Given the description of an element on the screen output the (x, y) to click on. 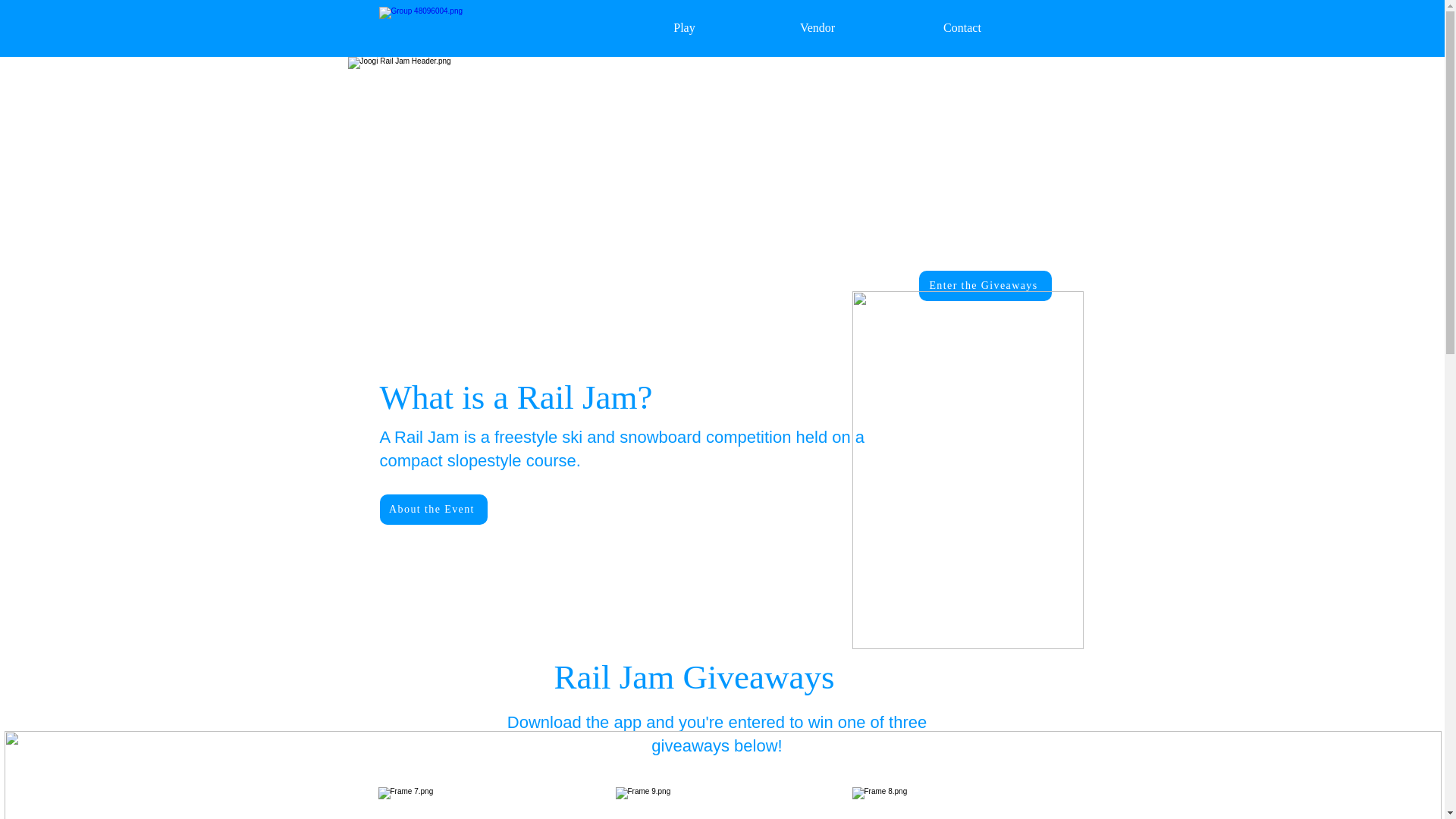
Enter the Giveaways (984, 286)
Play (683, 27)
About the Event (432, 509)
Contact (962, 27)
Vendor (816, 27)
